Given the description of an element on the screen output the (x, y) to click on. 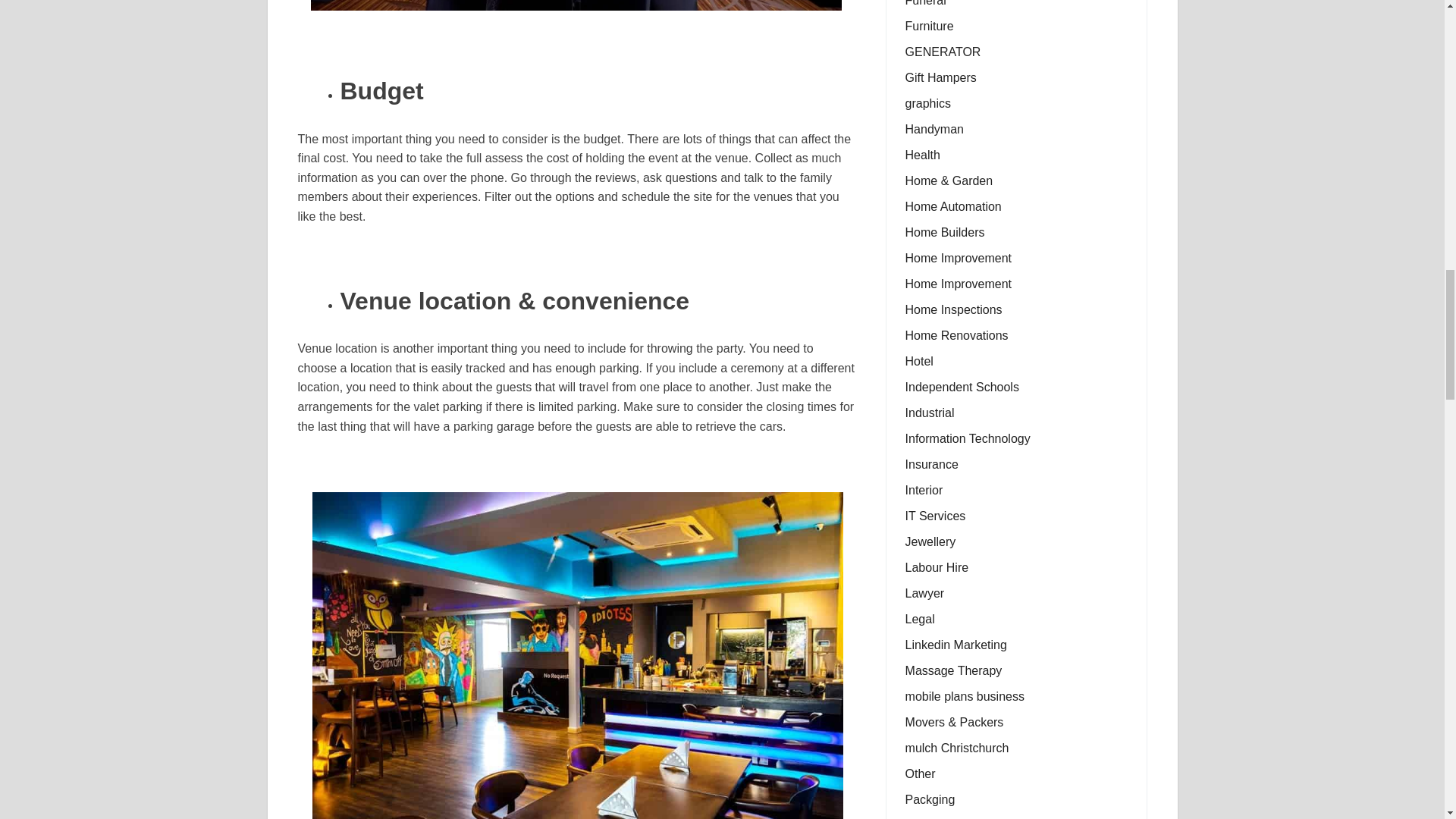
Birthday Venues Ringwood (576, 5)
